Given the description of an element on the screen output the (x, y) to click on. 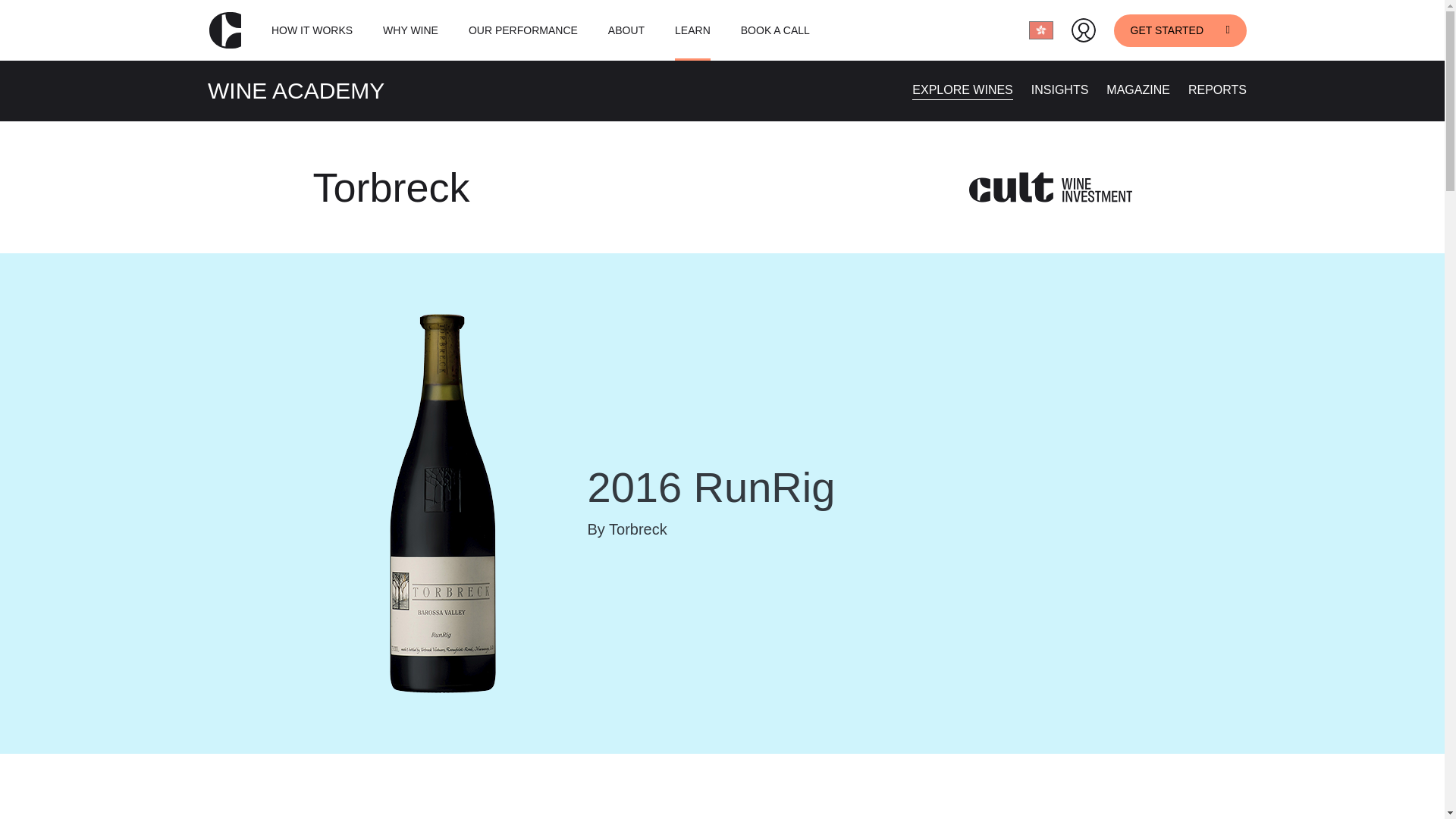
OUR PERFORMANCE (523, 30)
WHY WINE (410, 30)
HOW IT WORKS (311, 30)
BOOK A CALL (775, 30)
EXPLORE WINES (961, 90)
WINE ACADEMY (296, 90)
INSIGHTS (1059, 90)
REPORTS (1217, 90)
MAGAZINE (1138, 90)
Torbreck (391, 186)
